Given the description of an element on the screen output the (x, y) to click on. 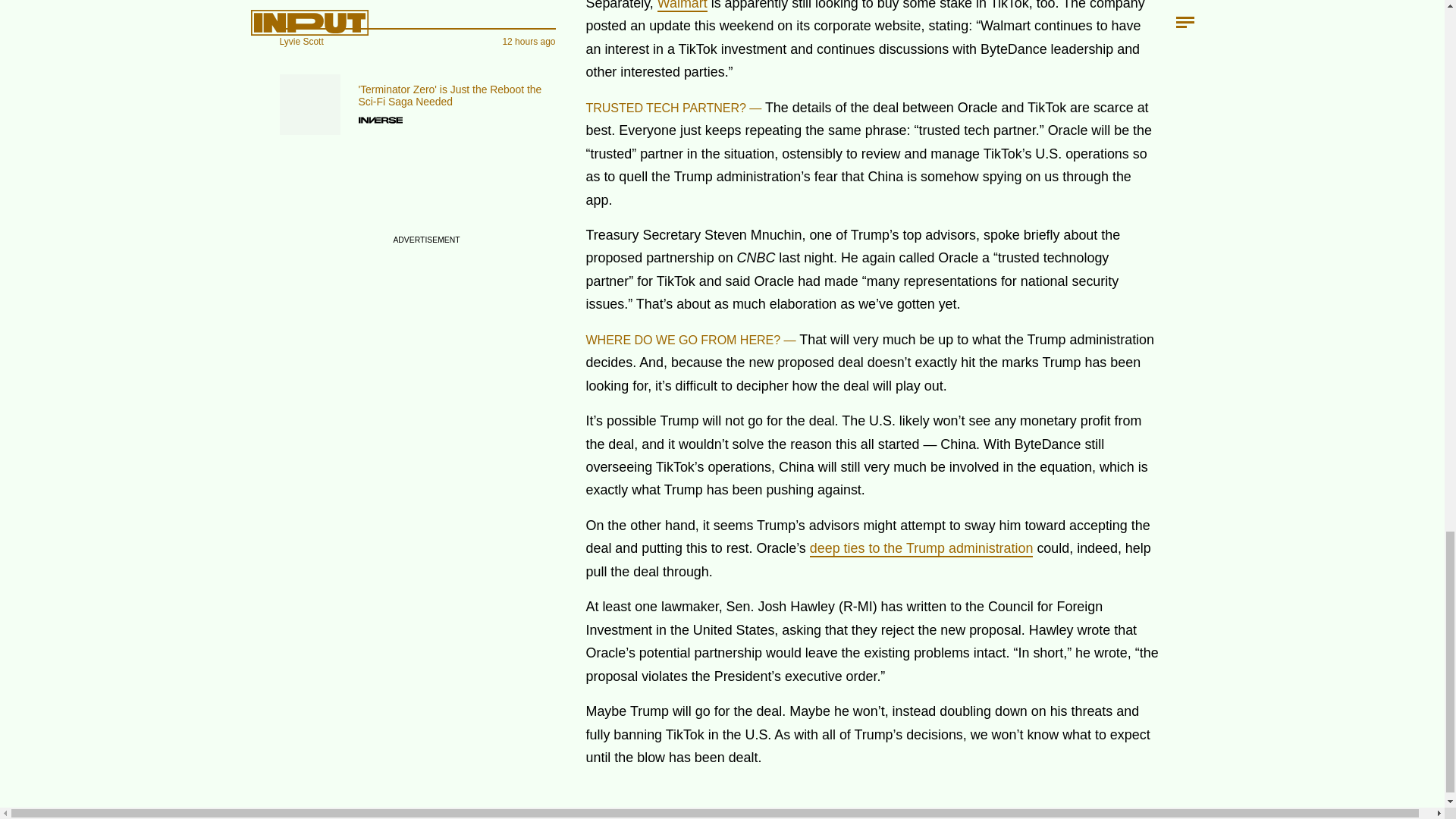
deep ties to the Trump administration (921, 548)
Walmart (682, 6)
